Given the description of an element on the screen output the (x, y) to click on. 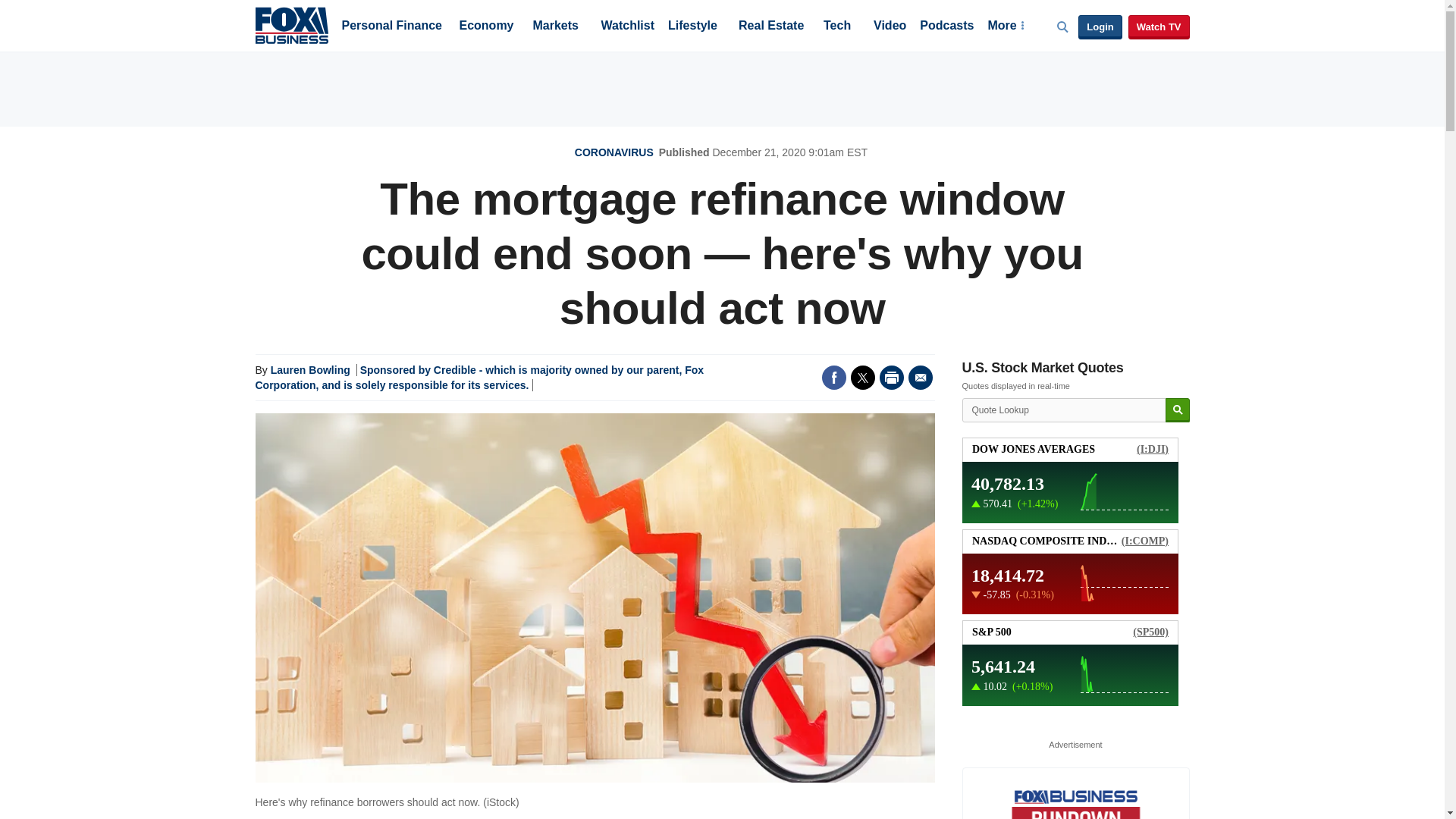
Search (1176, 410)
Economy (486, 27)
Video (889, 27)
Login (1099, 27)
Lifestyle (692, 27)
Personal Finance (391, 27)
Markets (555, 27)
More (1005, 27)
Tech (837, 27)
Fox Business (290, 24)
Real Estate (770, 27)
Watchlist (626, 27)
Search (1176, 410)
Podcasts (947, 27)
Watch TV (1158, 27)
